Given the description of an element on the screen output the (x, y) to click on. 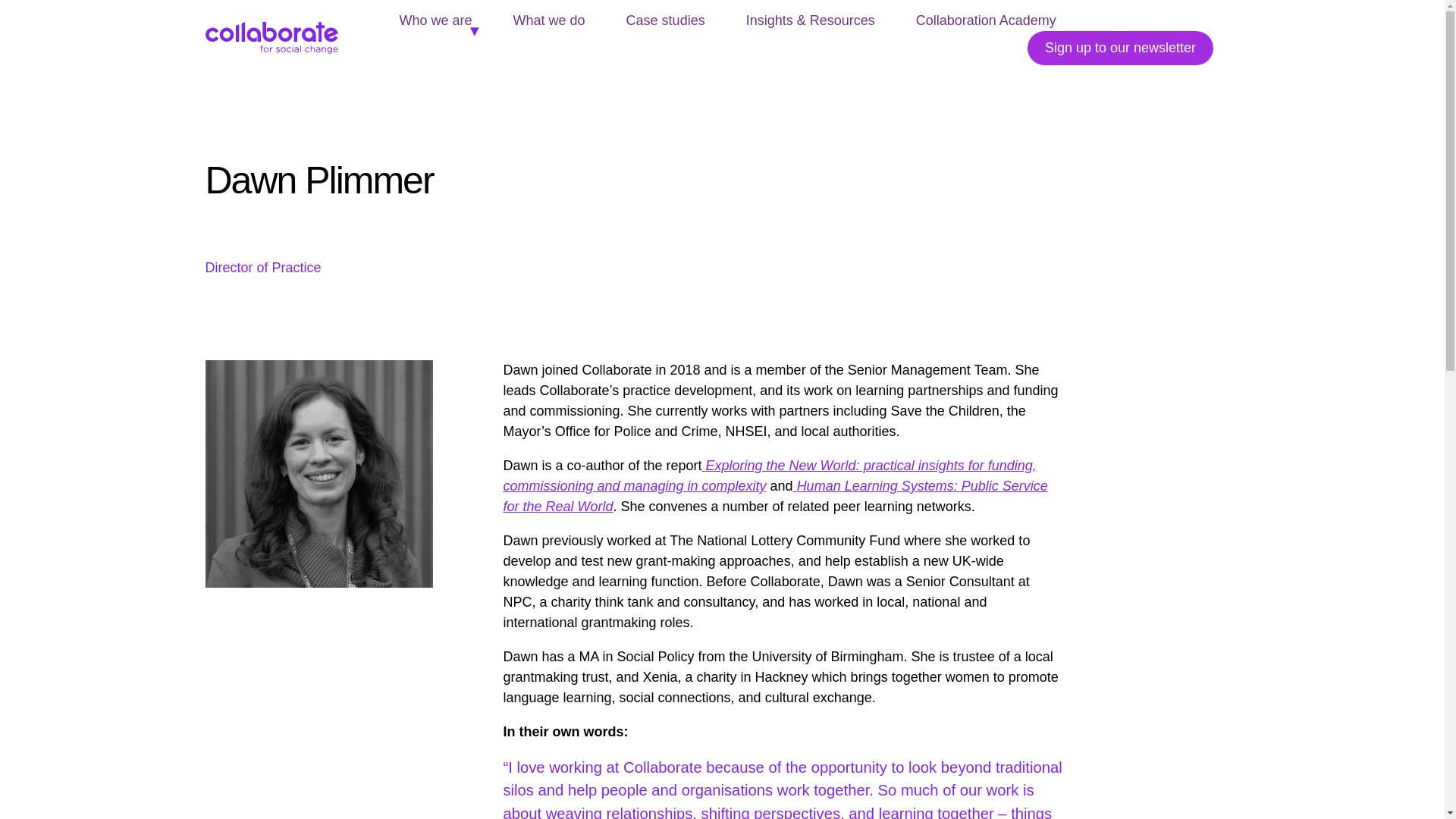
Collaboration Academy (985, 20)
Sign up to our newsletter (1119, 48)
Who we are (436, 20)
Case studies (665, 20)
What we do (549, 20)
 Human Learning Systems: Public Service for the Real World (774, 496)
